Given the description of an element on the screen output the (x, y) to click on. 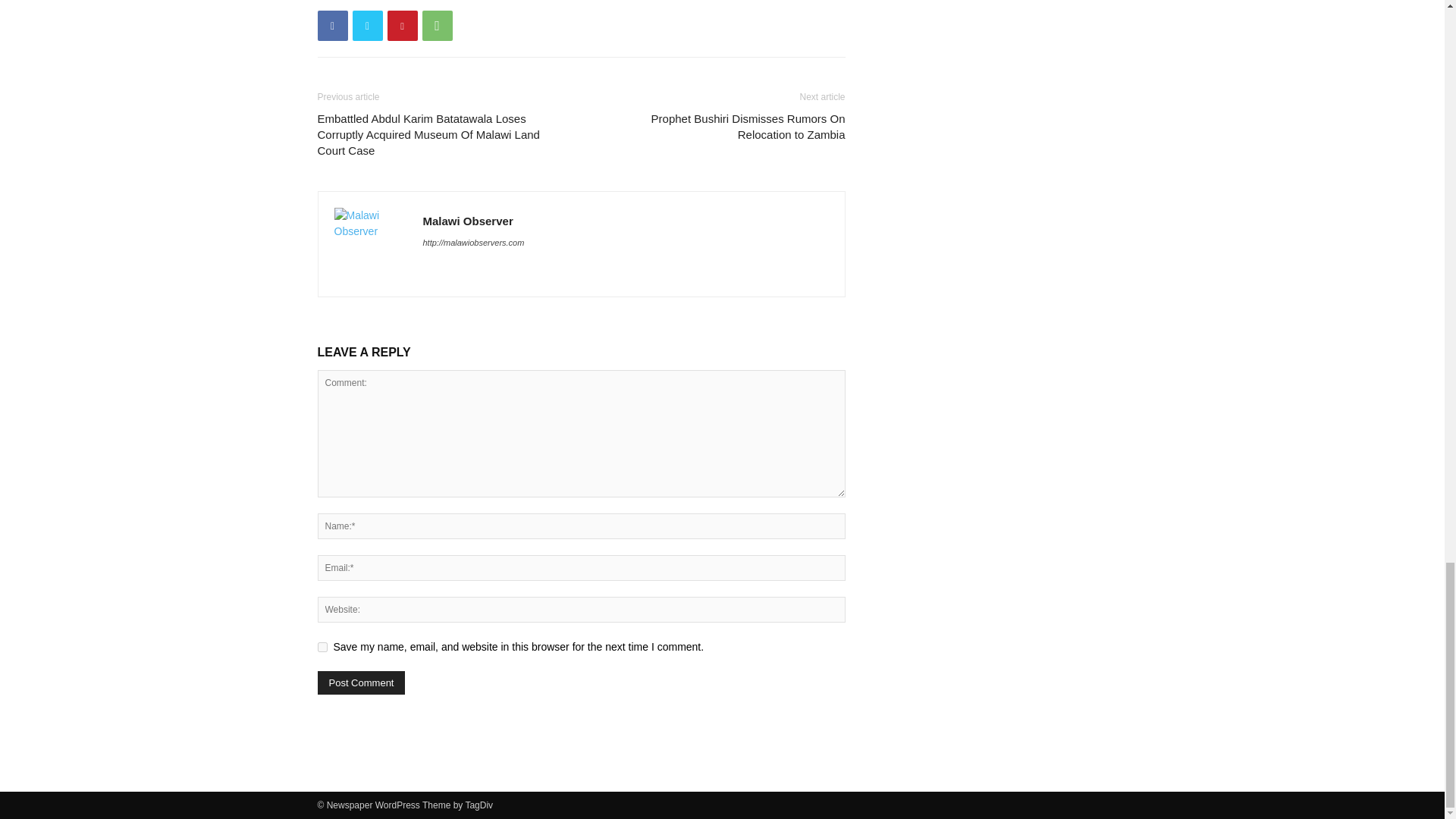
Facebook (332, 25)
yes (321, 646)
Post Comment (360, 682)
Twitter (366, 25)
